Given the description of an element on the screen output the (x, y) to click on. 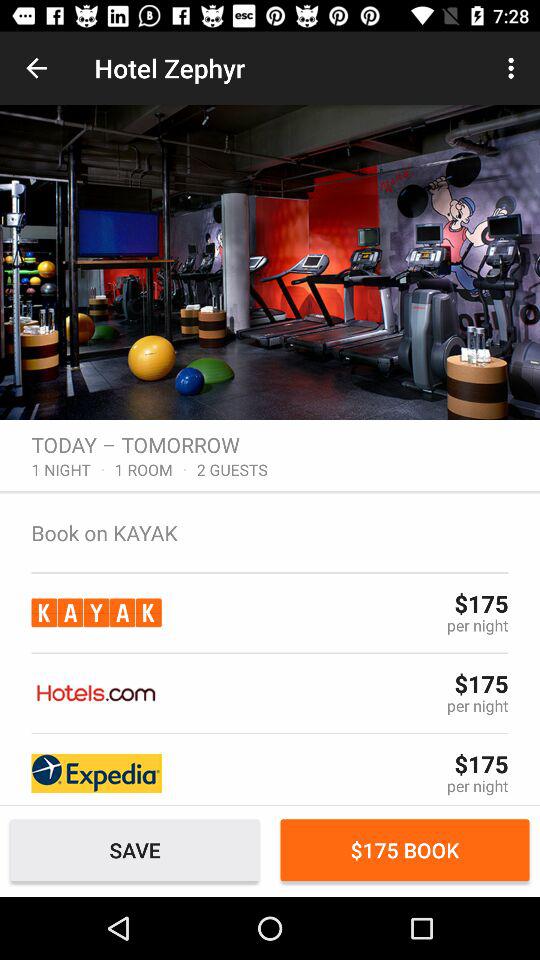
open $175 book (404, 850)
